Given the description of an element on the screen output the (x, y) to click on. 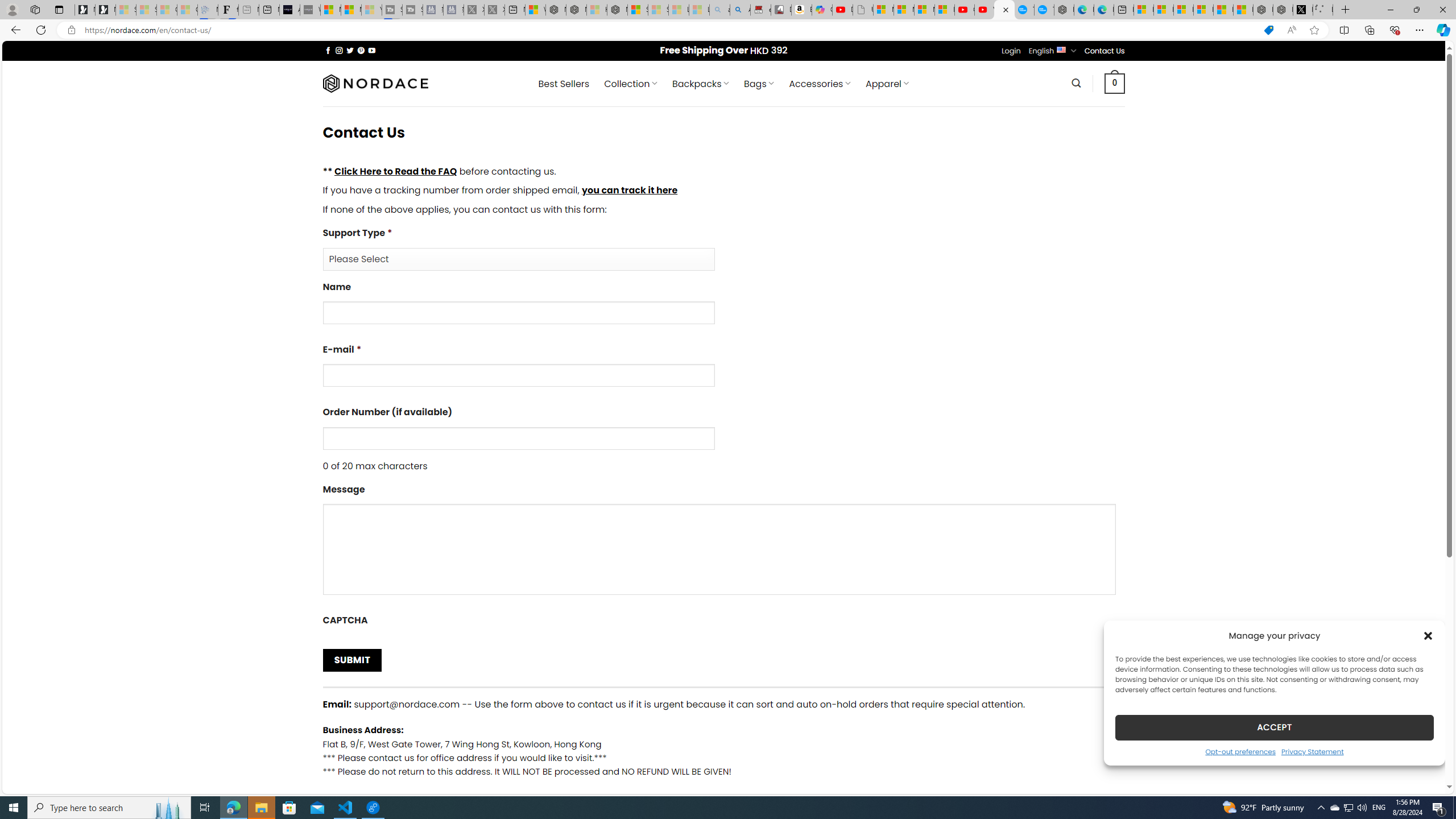
AI Voice Changer for PC and Mac - Voice.ai (289, 9)
Support Type* (517, 259)
Class: cmplz-close (1428, 635)
Name (517, 312)
Privacy Statement (1312, 750)
